Given the description of an element on the screen output the (x, y) to click on. 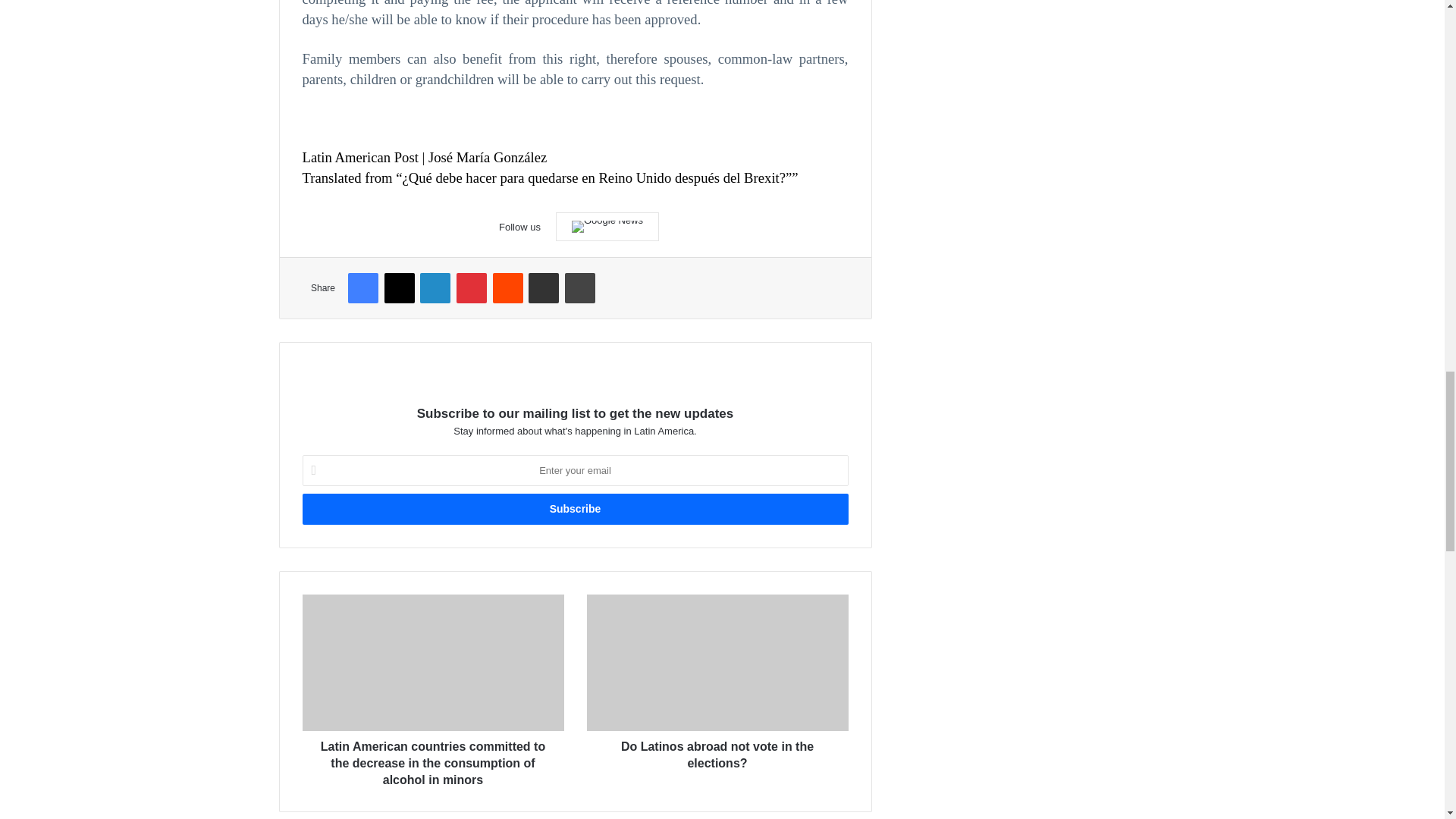
LinkedIn (434, 287)
X (399, 287)
Facebook (362, 287)
Google News (607, 226)
Subscribe (574, 508)
